Given the description of an element on the screen output the (x, y) to click on. 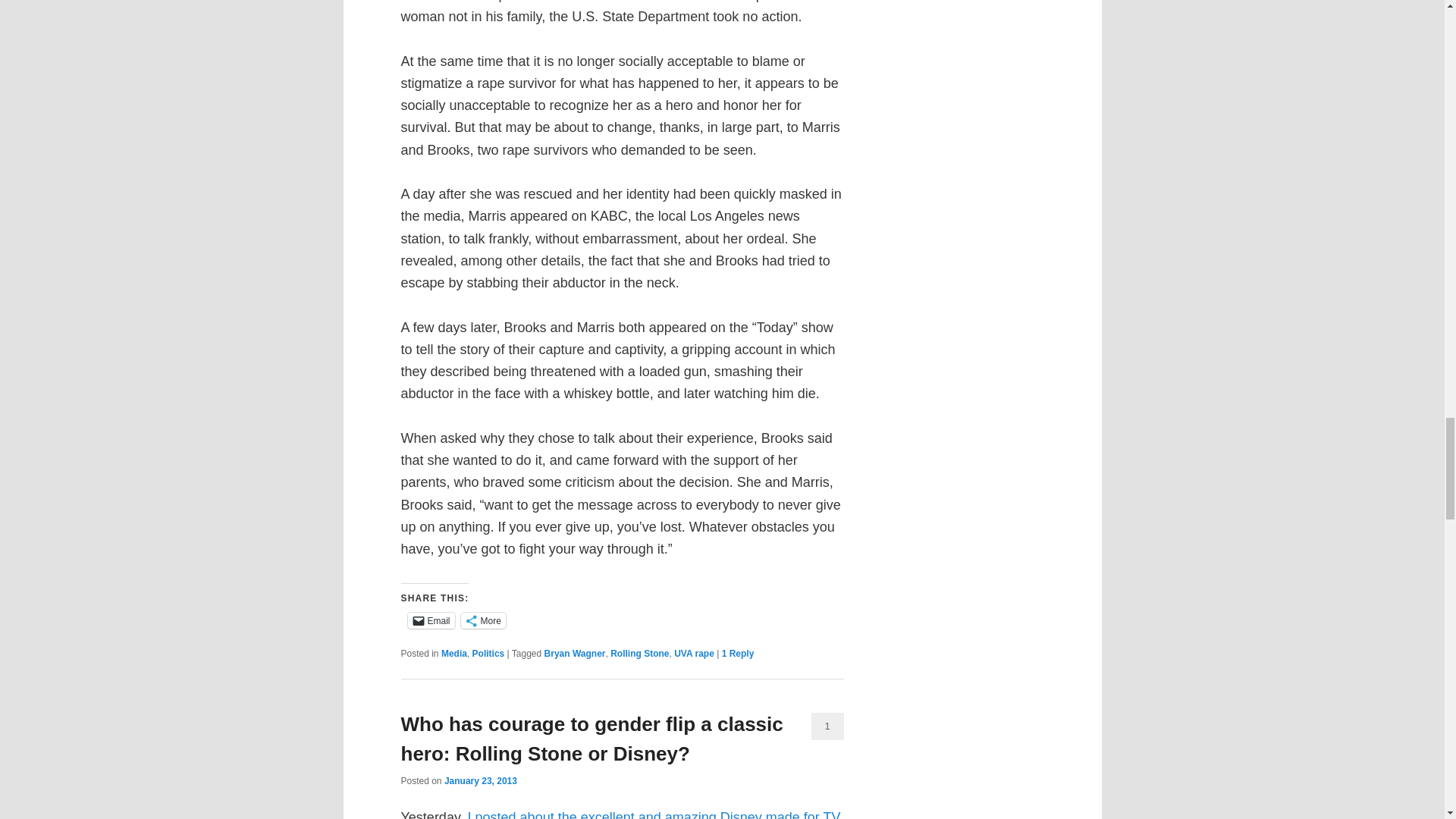
Click to email a link to a friend (430, 620)
Media (454, 653)
Politics (488, 653)
Bryan Wagner (574, 653)
More (483, 620)
January 23, 2013 (480, 780)
1 (827, 726)
1 Reply (738, 653)
Email (430, 620)
UVA rape (694, 653)
9:59 am (480, 780)
Rolling Stone (639, 653)
